Given the description of an element on the screen output the (x, y) to click on. 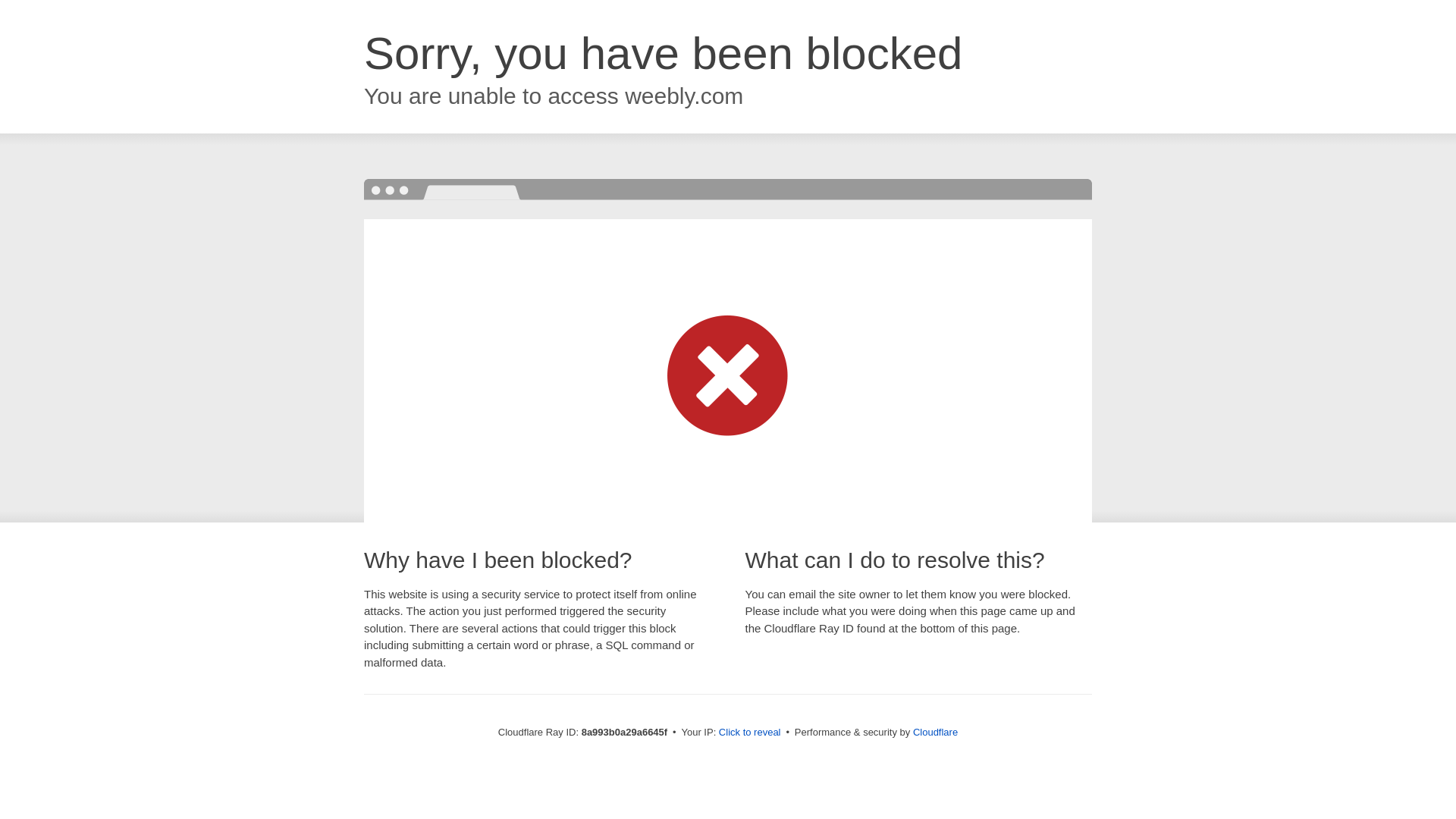
Cloudflare (935, 731)
Click to reveal (749, 732)
